Given the description of an element on the screen output the (x, y) to click on. 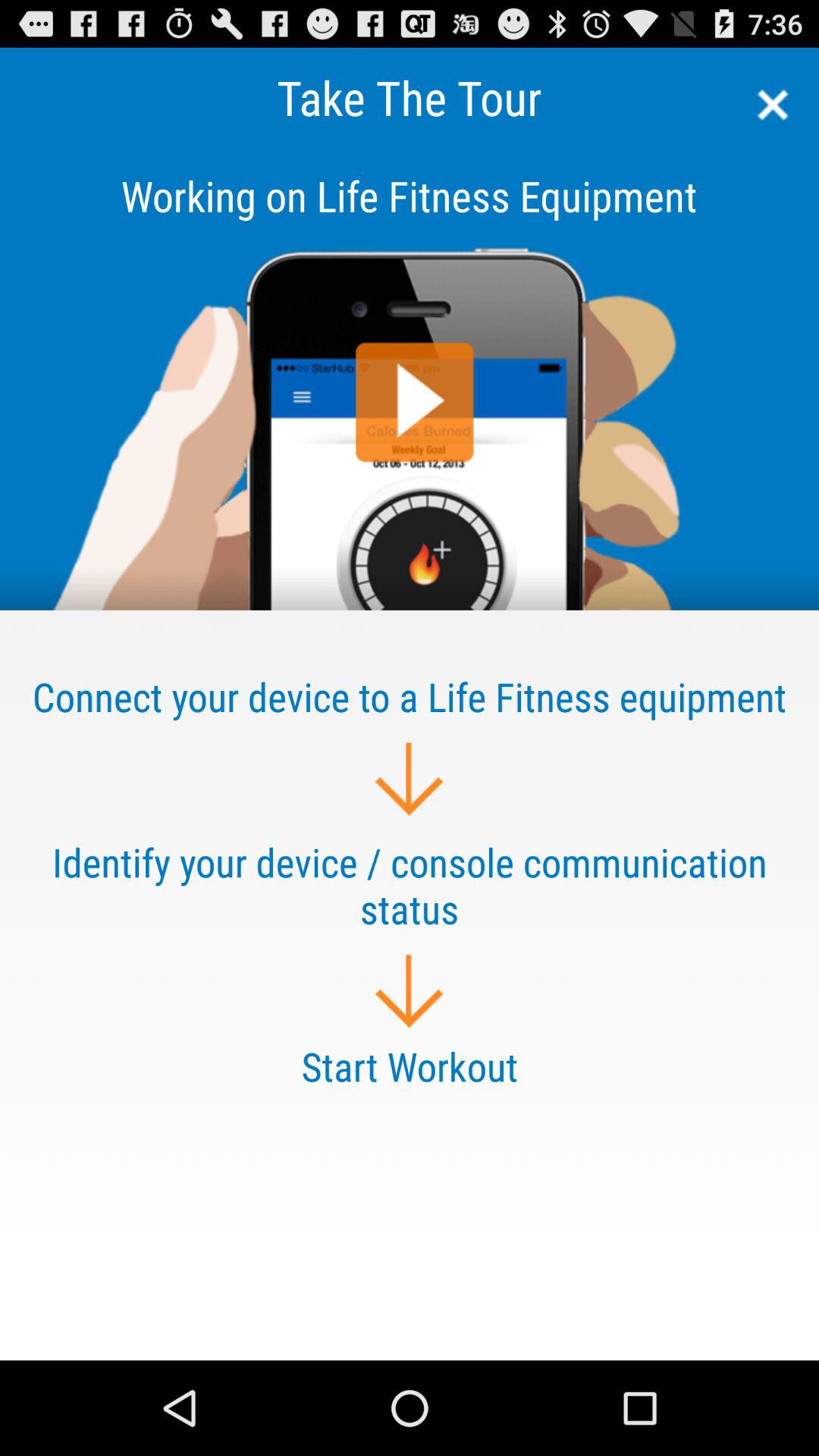
close (768, 104)
